Given the description of an element on the screen output the (x, y) to click on. 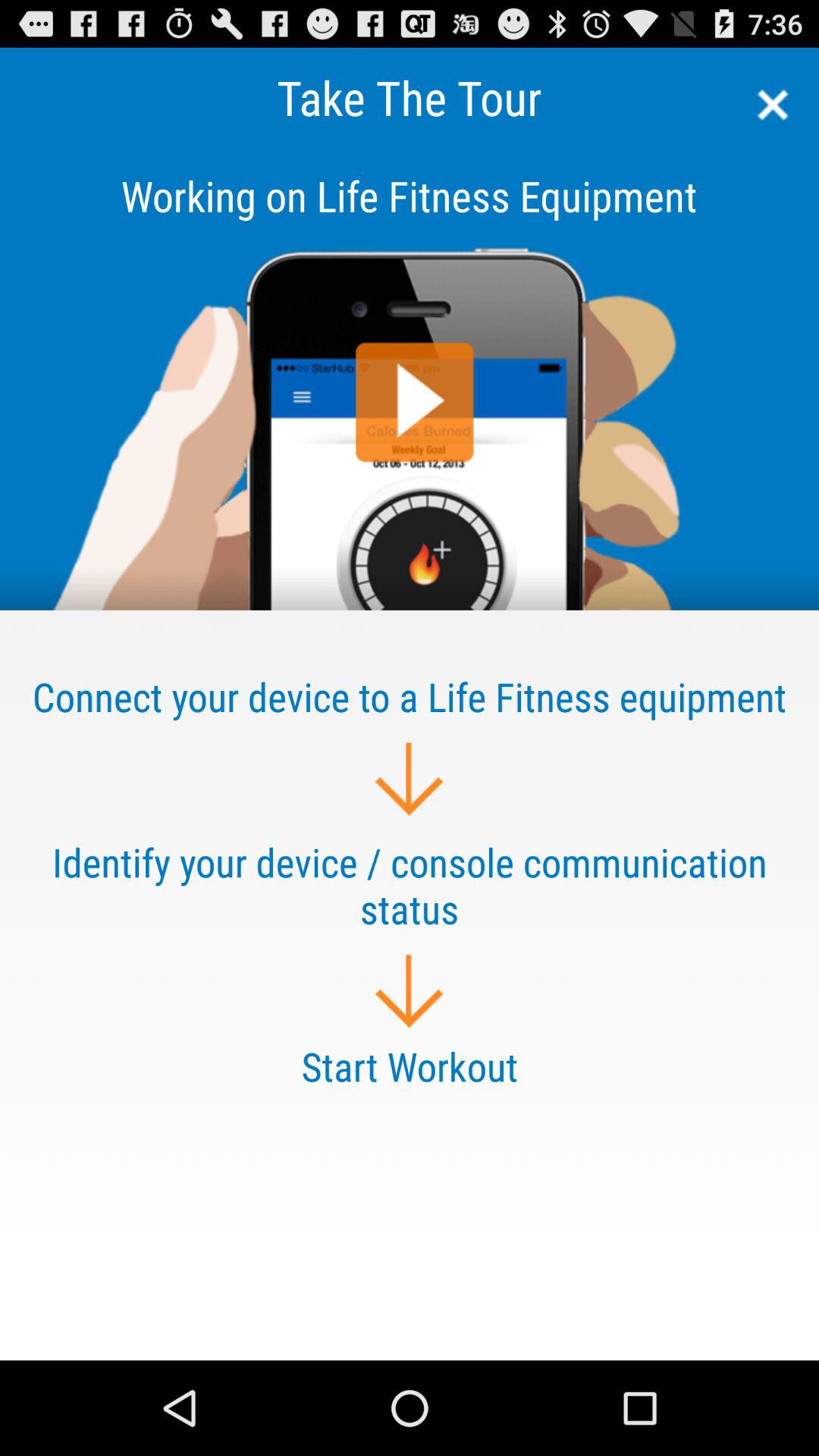
close (768, 104)
